Given the description of an element on the screen output the (x, y) to click on. 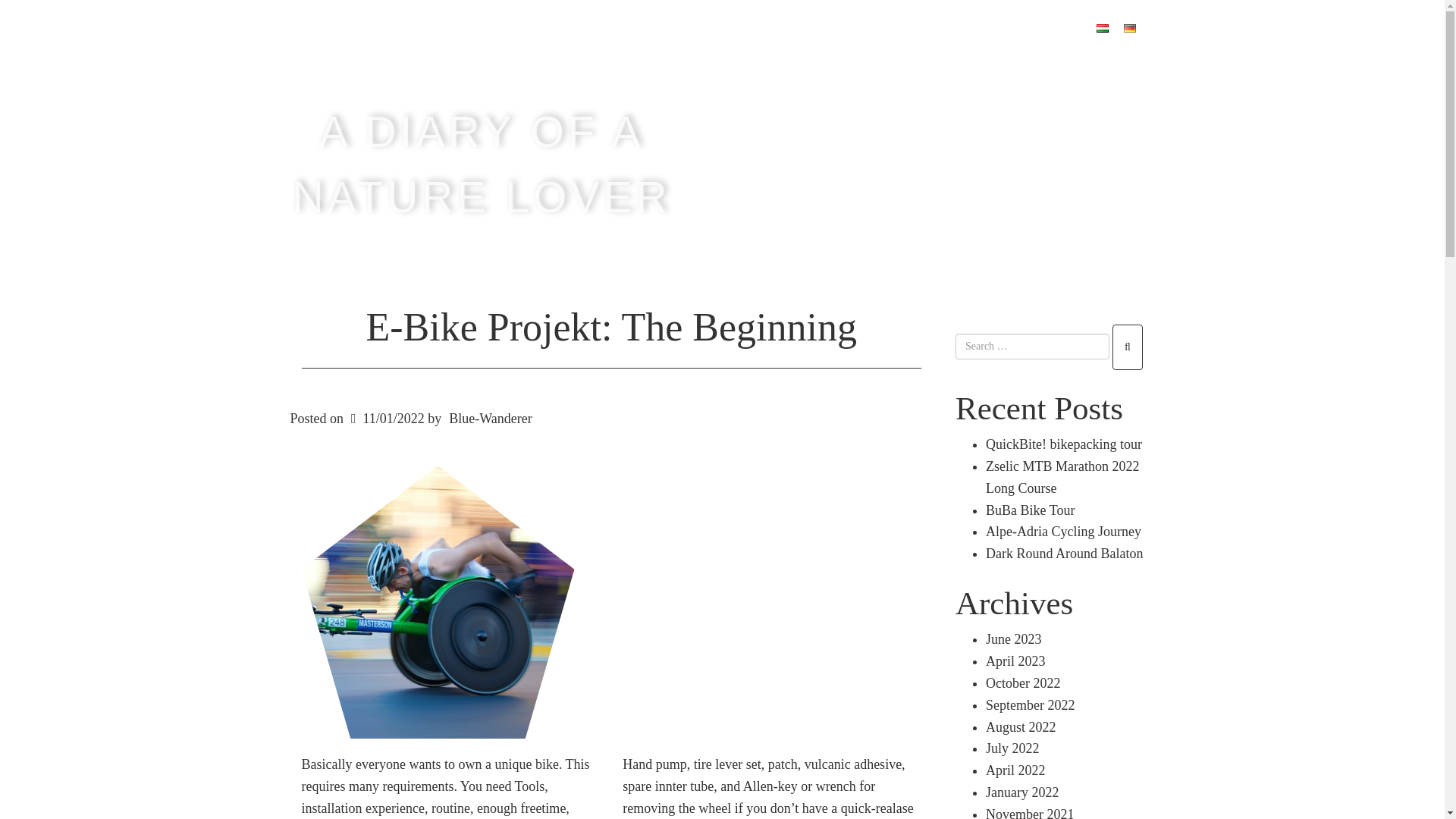
April 2023 (1015, 661)
August 2022 (1021, 726)
A DIARY OF A NATURE LOVER (480, 164)
April 2022 (1015, 770)
July 2022 (1012, 748)
November 2021 (1029, 812)
Dark Round Around Balaton (1063, 553)
QuickBite! bikepacking tour (1063, 444)
October 2022 (1022, 683)
BuBa Bike Tour (1029, 509)
